Given the description of an element on the screen output the (x, y) to click on. 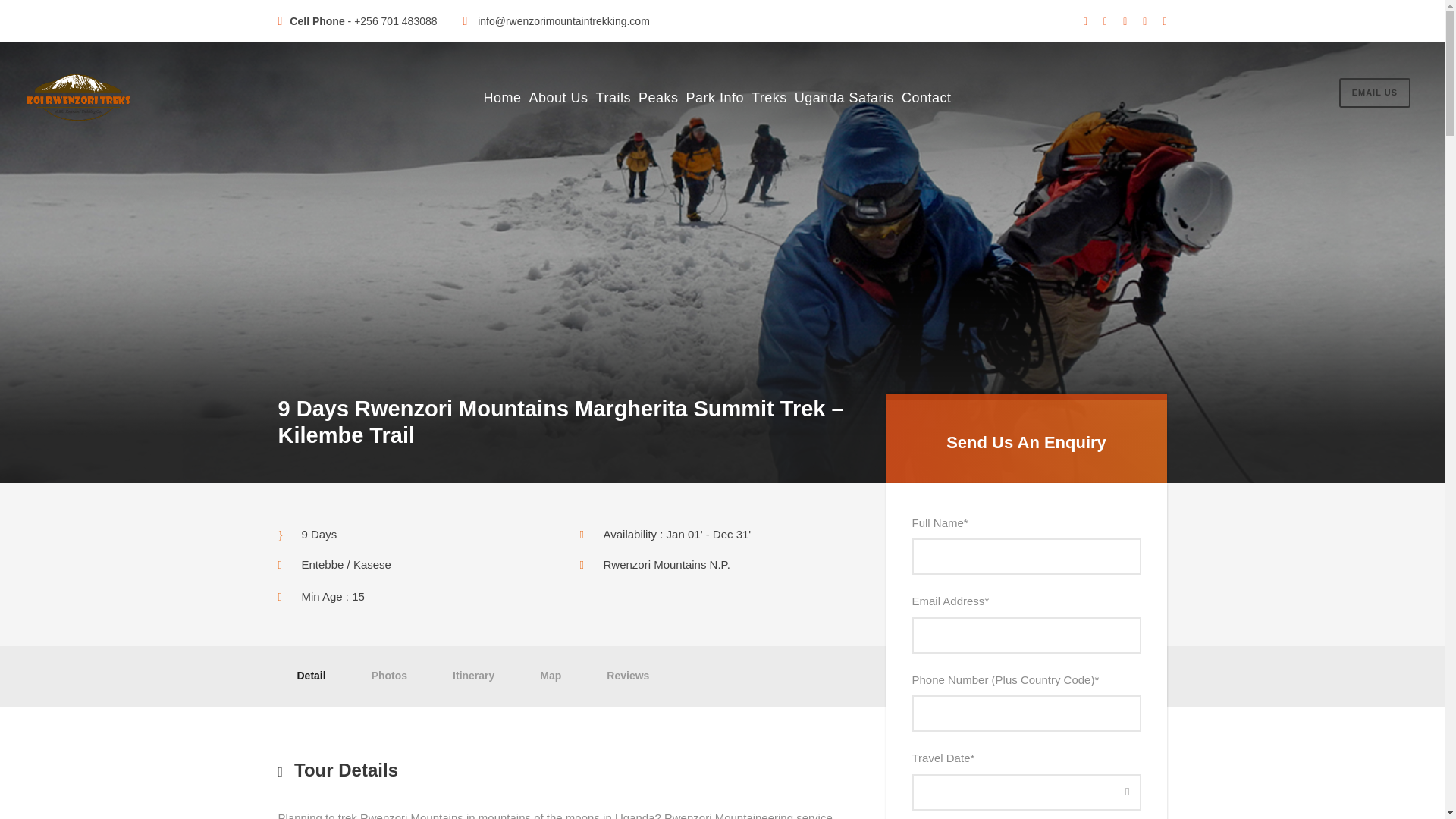
RWENZORI-TREKKING (81, 97)
